Given the description of an element on the screen output the (x, y) to click on. 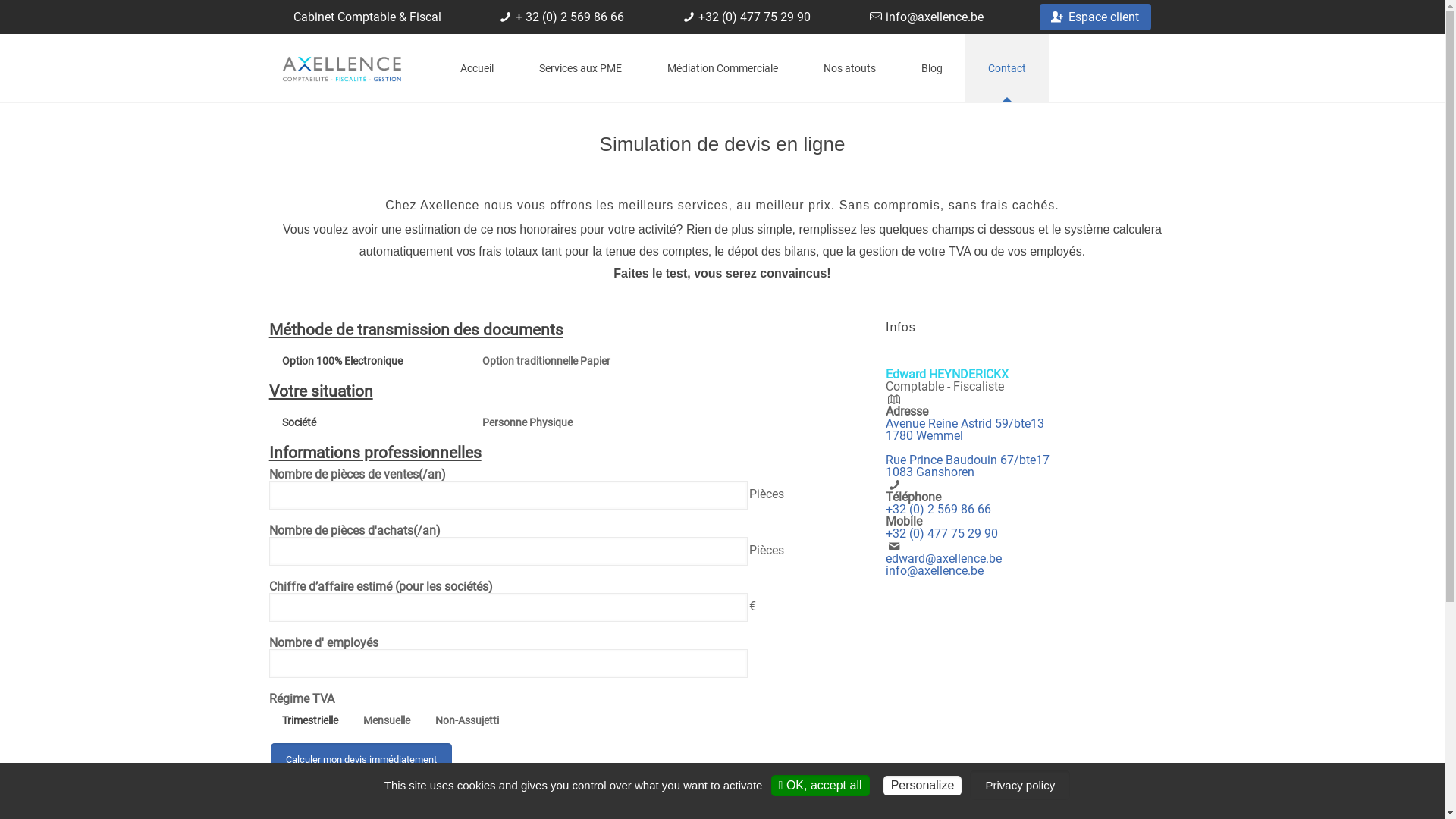
Nos atouts Element type: text (849, 68)
Avenue Reine Astrid 59/bte13
1780 Wemmel Element type: text (964, 429)
+32 (0) 477 75 29 90 Element type: text (754, 16)
Accueil Element type: text (475, 68)
edward@axellence.be Element type: text (943, 558)
+32 (0) 477 75 29 90 Element type: text (941, 533)
+32 (0) 2 569 86 66 Element type: text (938, 509)
Blog Element type: text (930, 68)
Rue Prince Baudouin 67/bte17
1083 Ganshoren Element type: text (967, 465)
Espace client Element type: text (1103, 16)
info@axellence.be Element type: text (934, 16)
Contact Element type: text (1006, 68)
+ 32 (0) 2 569 86 66 Element type: text (569, 16)
Personalize Element type: text (922, 785)
info@axellence.be Element type: text (934, 570)
Privacy policy Element type: text (1019, 785)
Services aux PME Element type: text (579, 68)
